Given the description of an element on the screen output the (x, y) to click on. 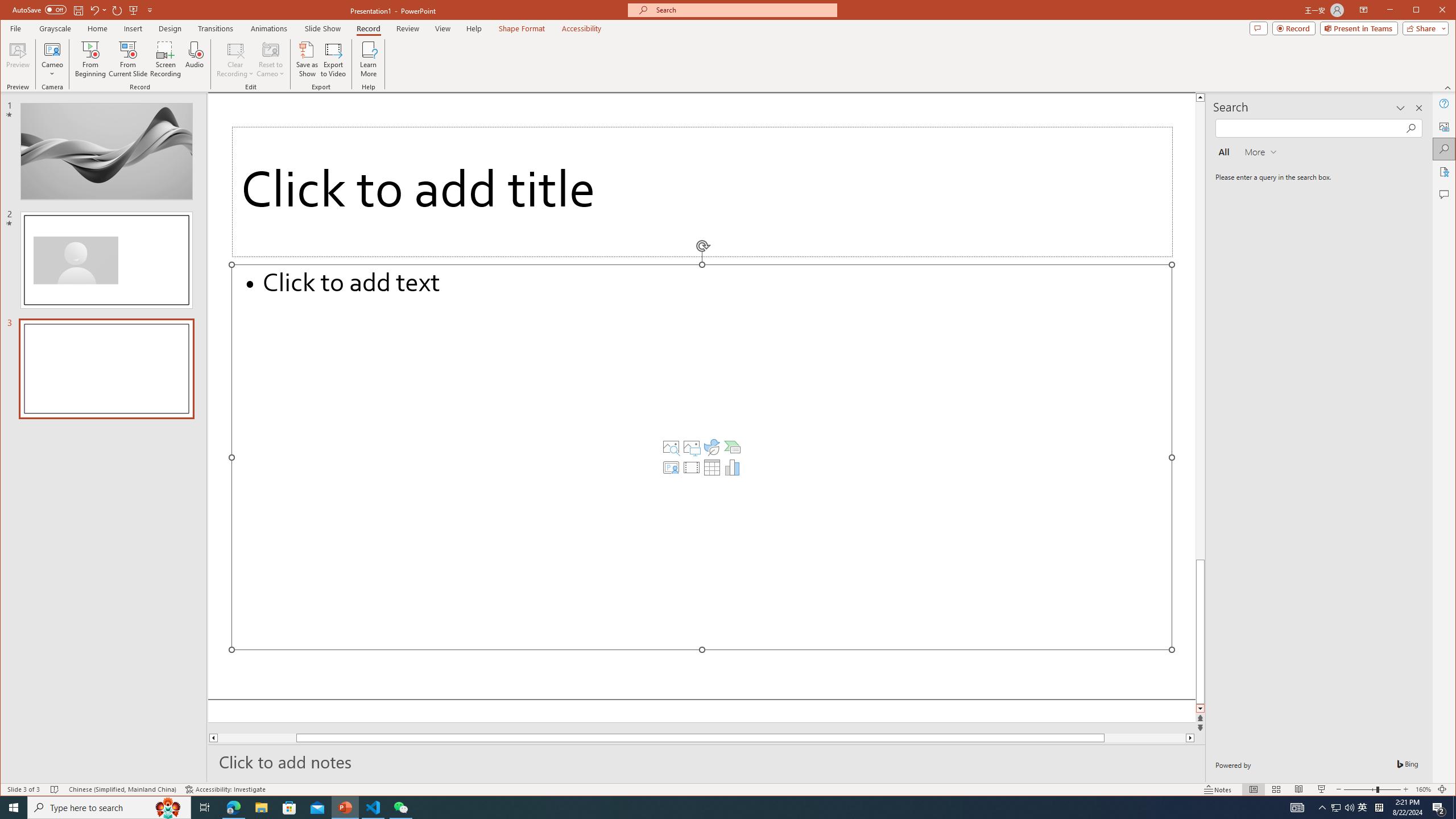
Zoom 160% (1422, 789)
